Given the description of an element on the screen output the (x, y) to click on. 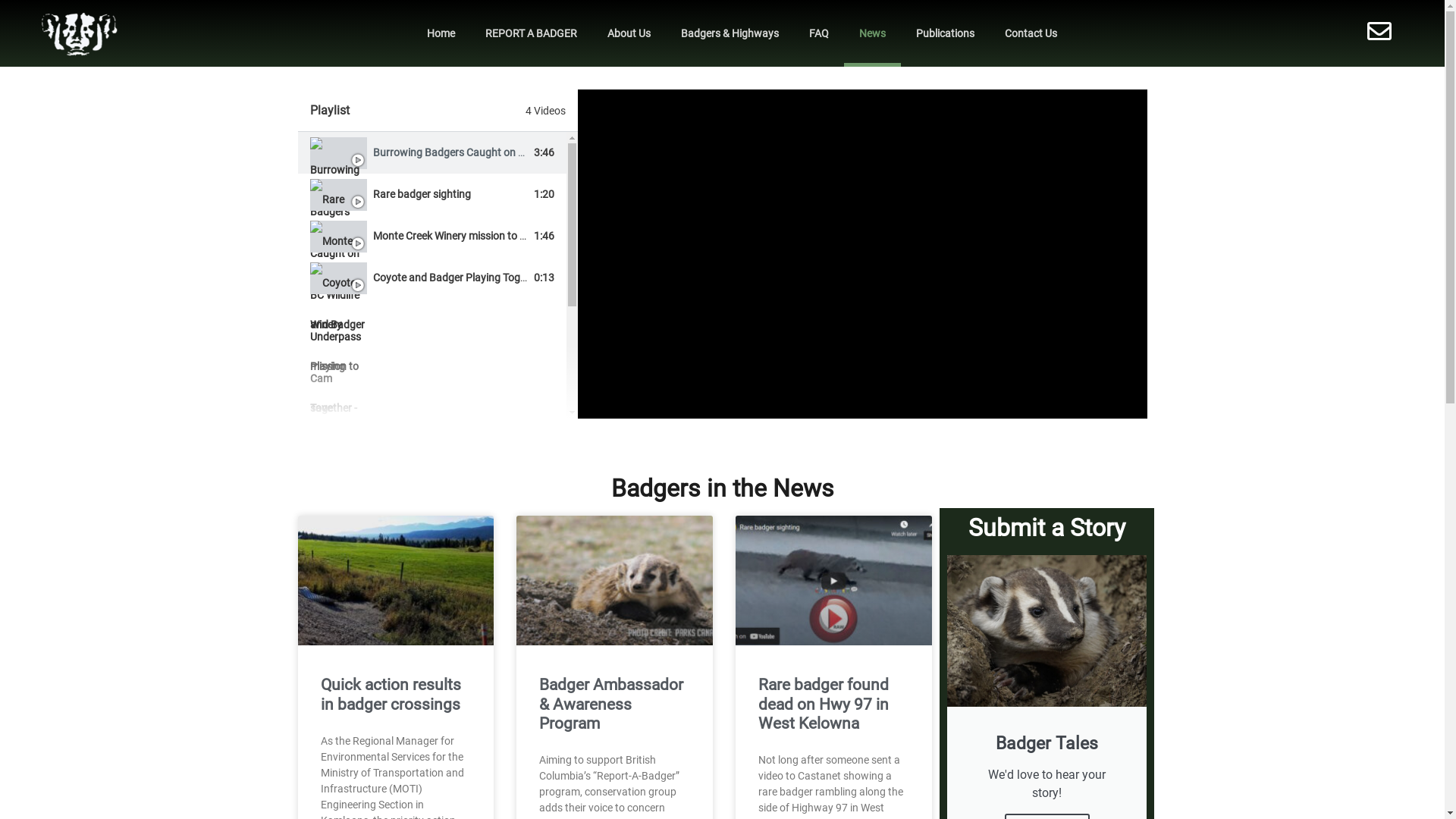
Rare badger sighting Element type: text (421, 194)
Publications Element type: text (944, 33)
Contact Us Element type: text (1030, 33)
Quick action results in badger crossings Element type: text (390, 693)
REPORT A BADGER Element type: text (531, 33)
Home Element type: text (440, 33)
Rare badger found dead on Hwy 97 in West Kelowna Element type: text (823, 703)
Monte Creek Winery mission to save endangered badgers Element type: text (506, 235)
About Us Element type: text (628, 33)
Badgers & Highways Element type: text (729, 33)
FAQ Element type: text (818, 33)
Burrowing Badgers Caught on BC Wildlife Underpass Cam Element type: text (508, 152)
Badger Ambassador & Awareness Program Element type: text (611, 703)
News Element type: text (872, 33)
